Given the description of an element on the screen output the (x, y) to click on. 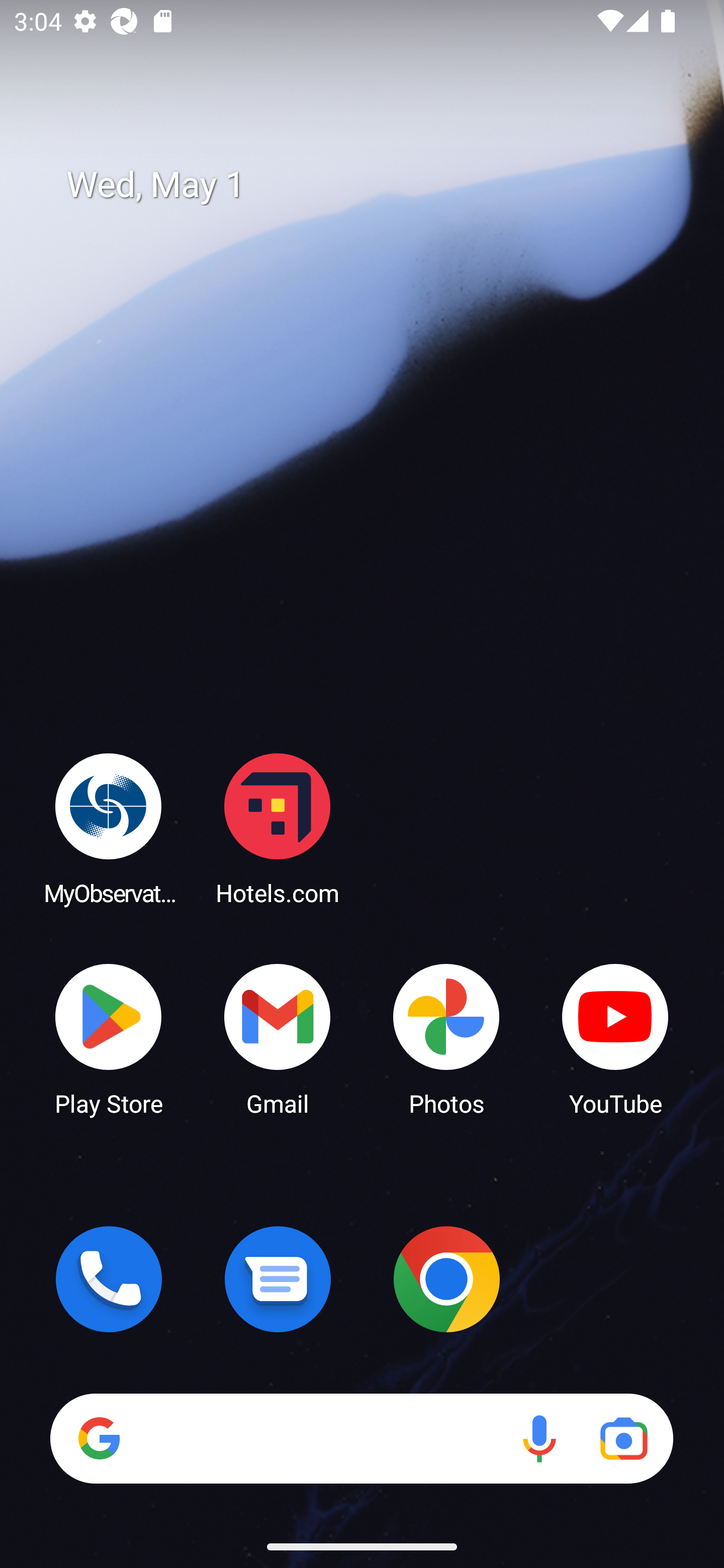
Wed, May 1 (375, 184)
MyObservatory (108, 828)
Hotels.com (277, 828)
Play Store (108, 1038)
Gmail (277, 1038)
Photos (445, 1038)
YouTube (615, 1038)
Phone (108, 1279)
Messages (277, 1279)
Chrome (446, 1279)
Search Voice search Google Lens (361, 1438)
Voice search (539, 1438)
Google Lens (623, 1438)
